Given the description of an element on the screen output the (x, y) to click on. 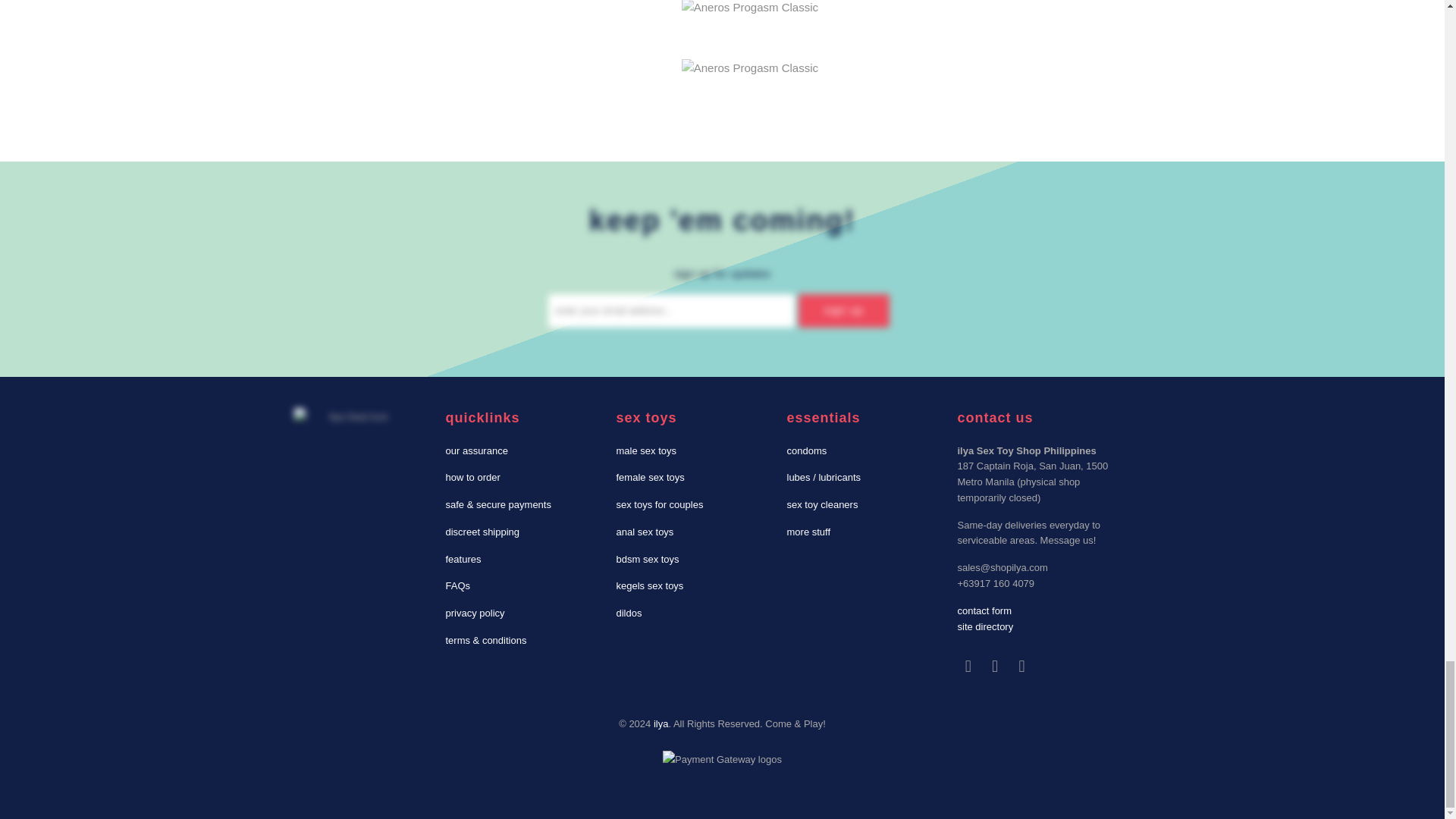
Contact Us (983, 610)
Sign Up (842, 309)
